Given the description of an element on the screen output the (x, y) to click on. 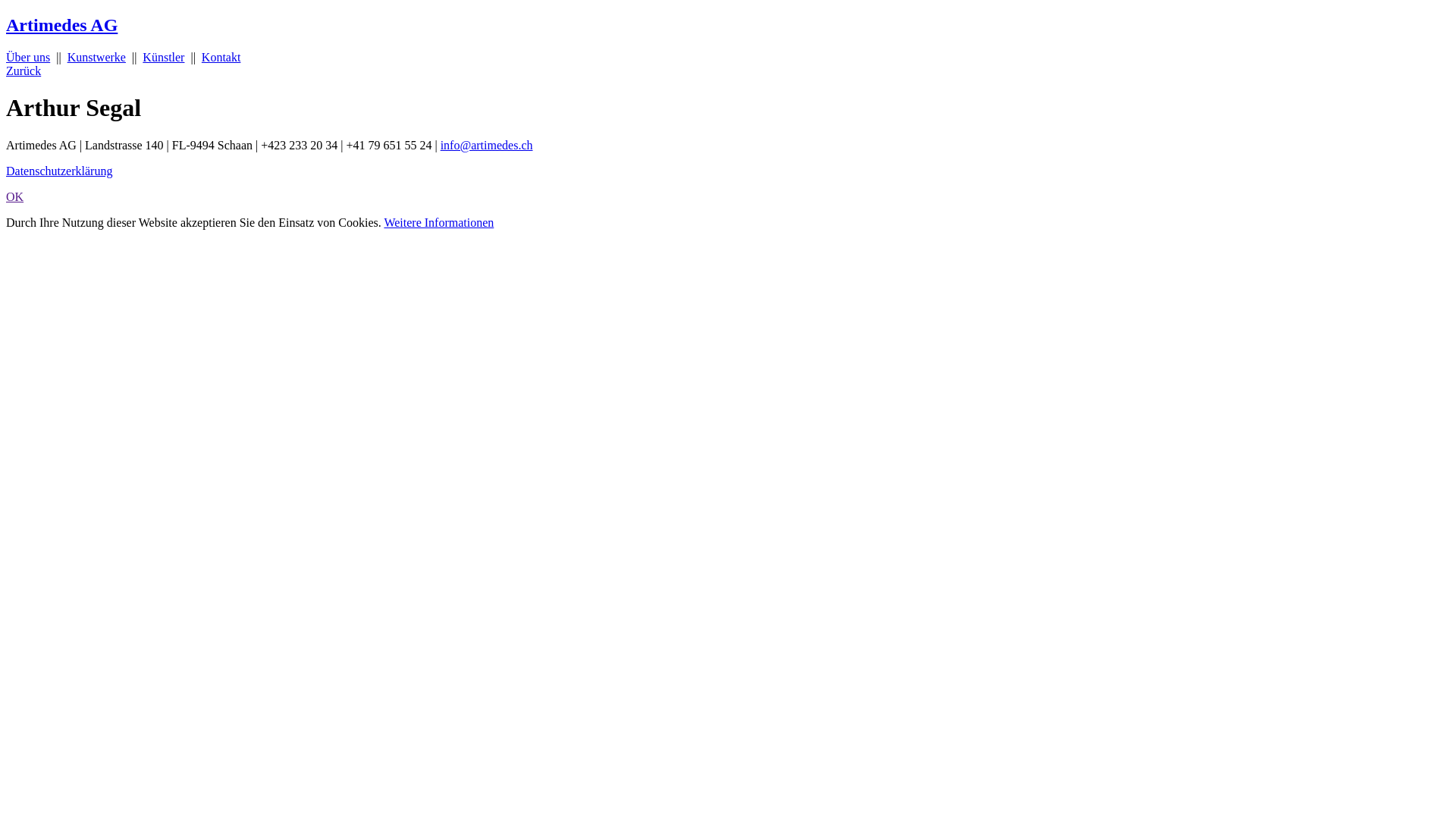
Kontakt Element type: text (221, 56)
info@artimedes.ch Element type: text (486, 144)
Weitere Informationen Element type: text (438, 222)
Kunstwerke Element type: text (96, 56)
OK Element type: text (14, 196)
Artimedes AG Element type: text (61, 24)
